Given the description of an element on the screen output the (x, y) to click on. 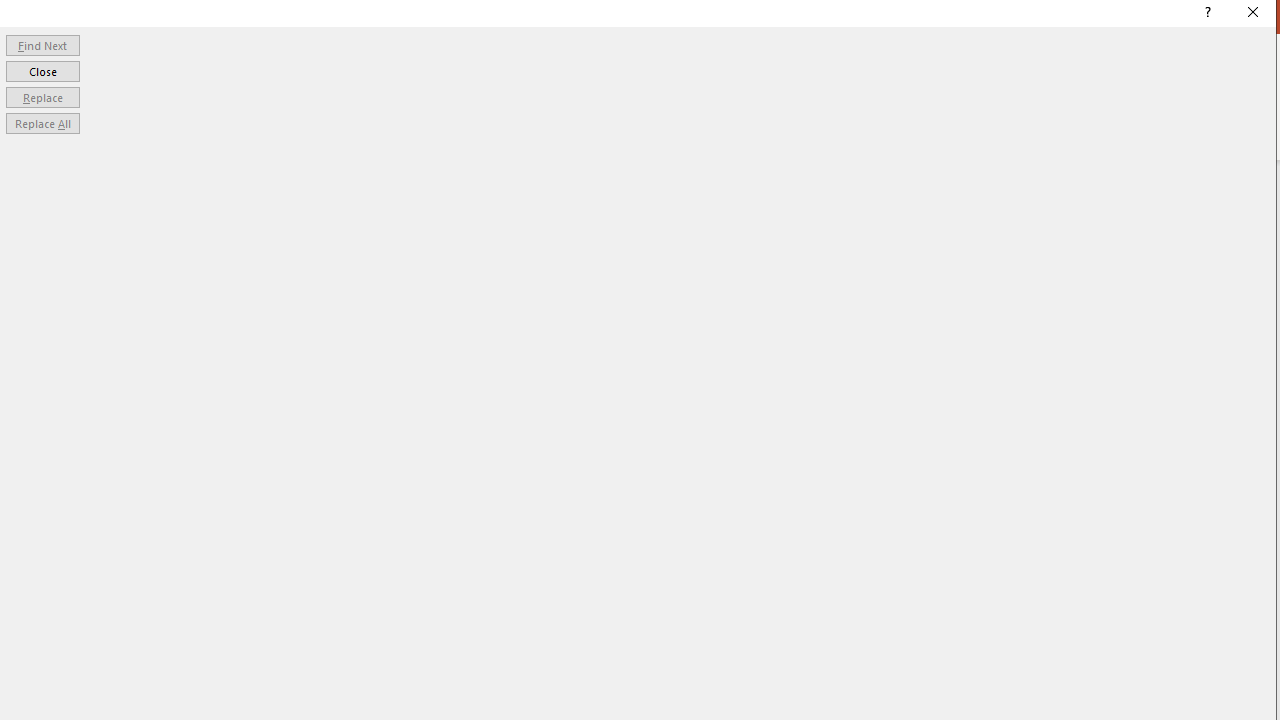
Context help (1206, 14)
Replace (42, 96)
Replace All (42, 123)
Find Next (42, 44)
